Given the description of an element on the screen output the (x, y) to click on. 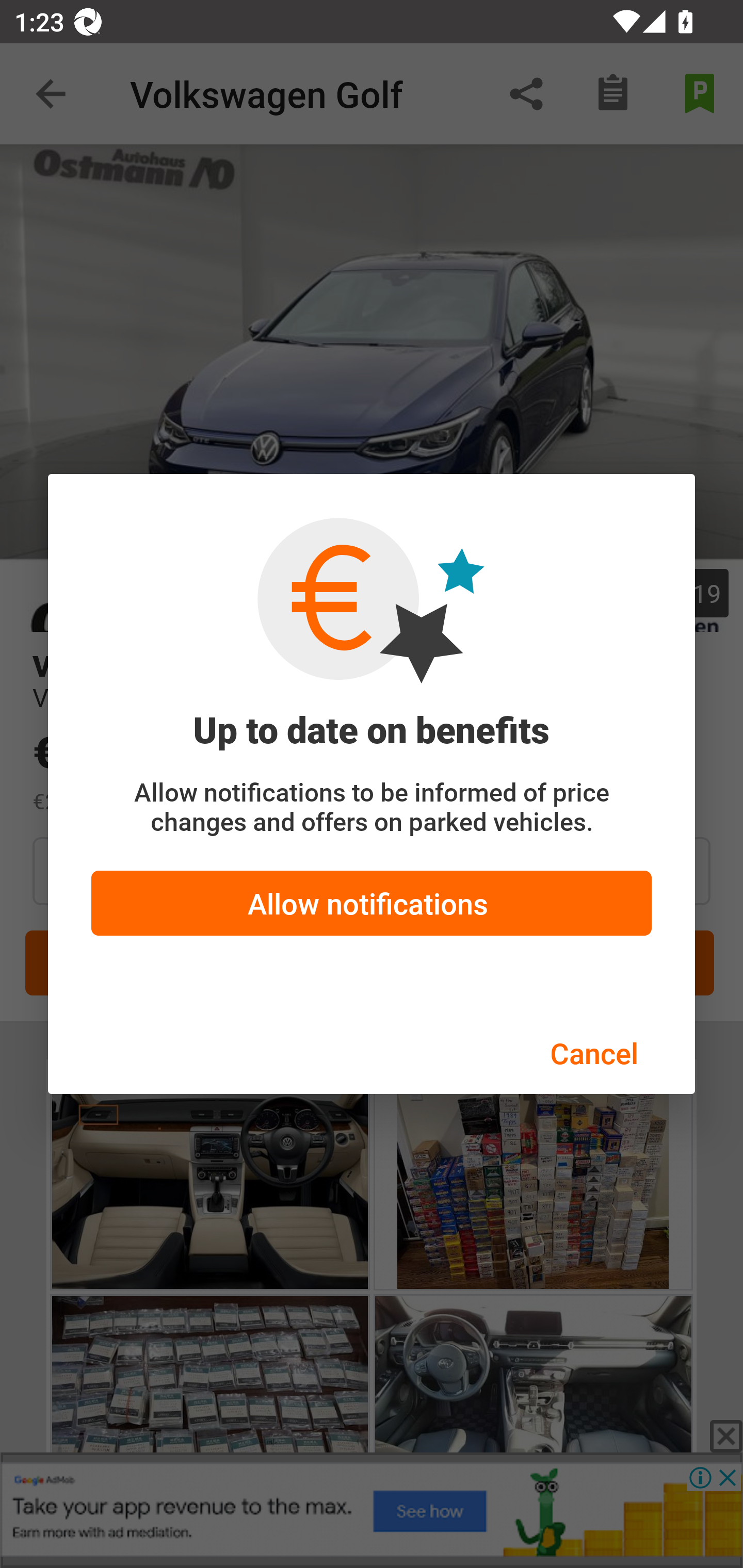
Allow notifications (371, 903)
Cancel (593, 1052)
